Given the description of an element on the screen output the (x, y) to click on. 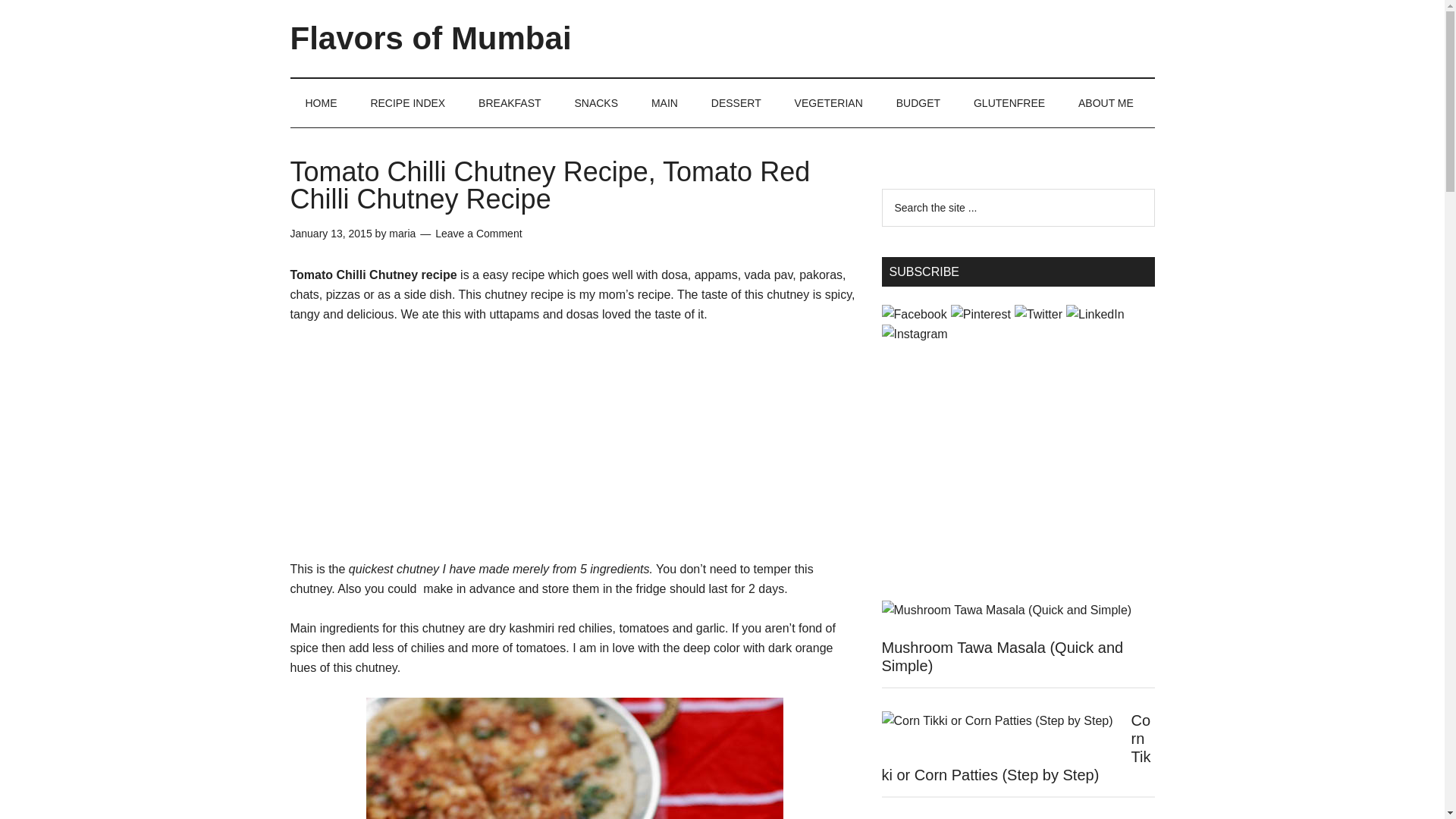
GLUTENFREE (1008, 102)
RECIPE INDEX (407, 102)
maria (401, 233)
Flavors of Mumbai (429, 38)
BREAKFAST (509, 102)
MAIN (664, 102)
Follow getolma on Twitter (1038, 314)
flavorsofmumbai on Pinterest (980, 314)
SNACKS (596, 102)
